Given the description of an element on the screen output the (x, y) to click on. 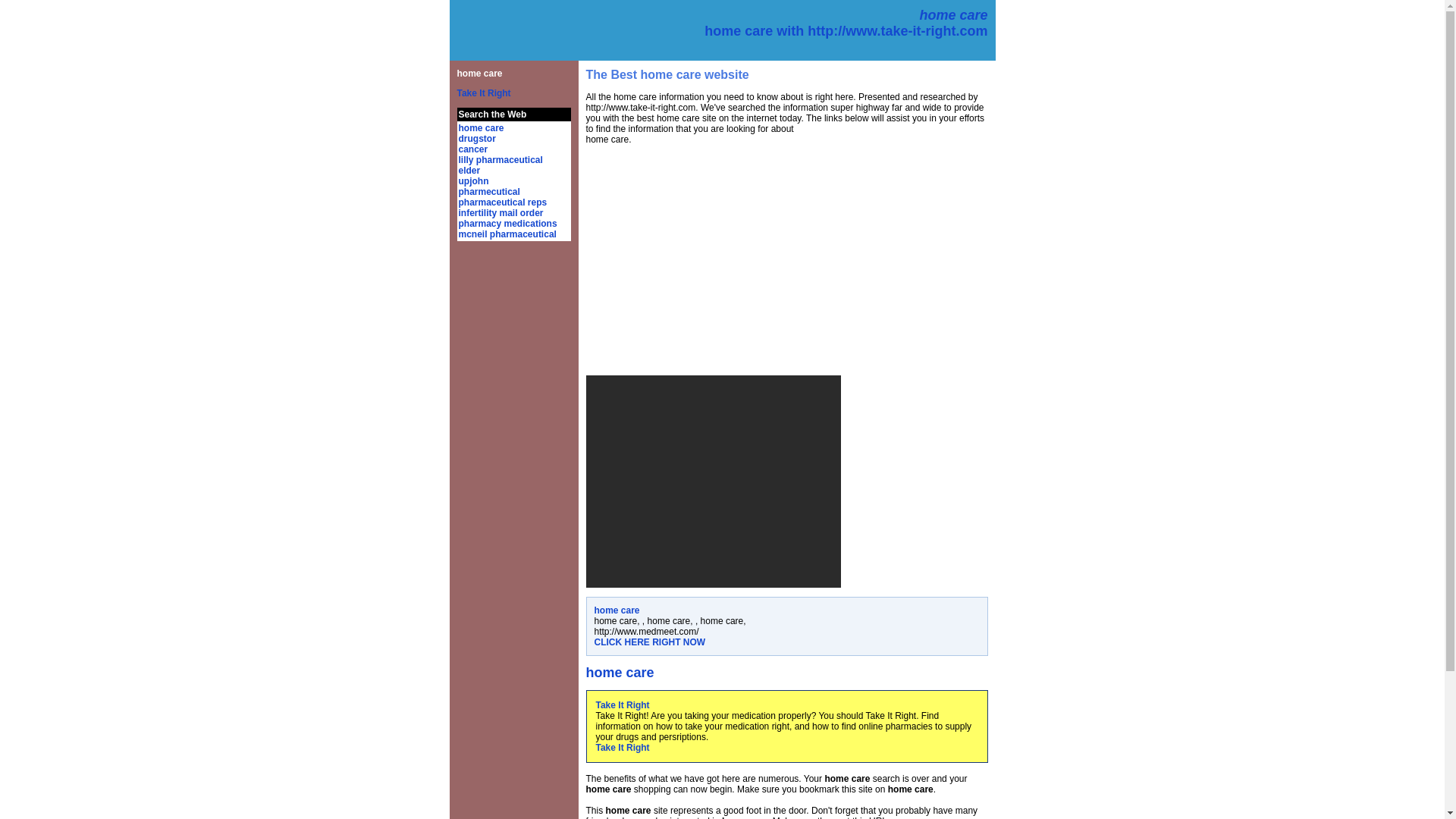
CLICK HERE RIGHT NOW (650, 642)
Take It Right (484, 92)
drugstor (476, 138)
cancer (472, 149)
home care (479, 72)
elder (469, 170)
home care (617, 610)
home care (480, 127)
infertility mail order pharmacy medications (507, 218)
Advertisement (712, 481)
lilly pharmaceutical (499, 159)
upjohn (472, 181)
pharmaceutical reps (502, 202)
mcneil pharmaceutical (507, 234)
Take It Right (622, 747)
